Given the description of an element on the screen output the (x, y) to click on. 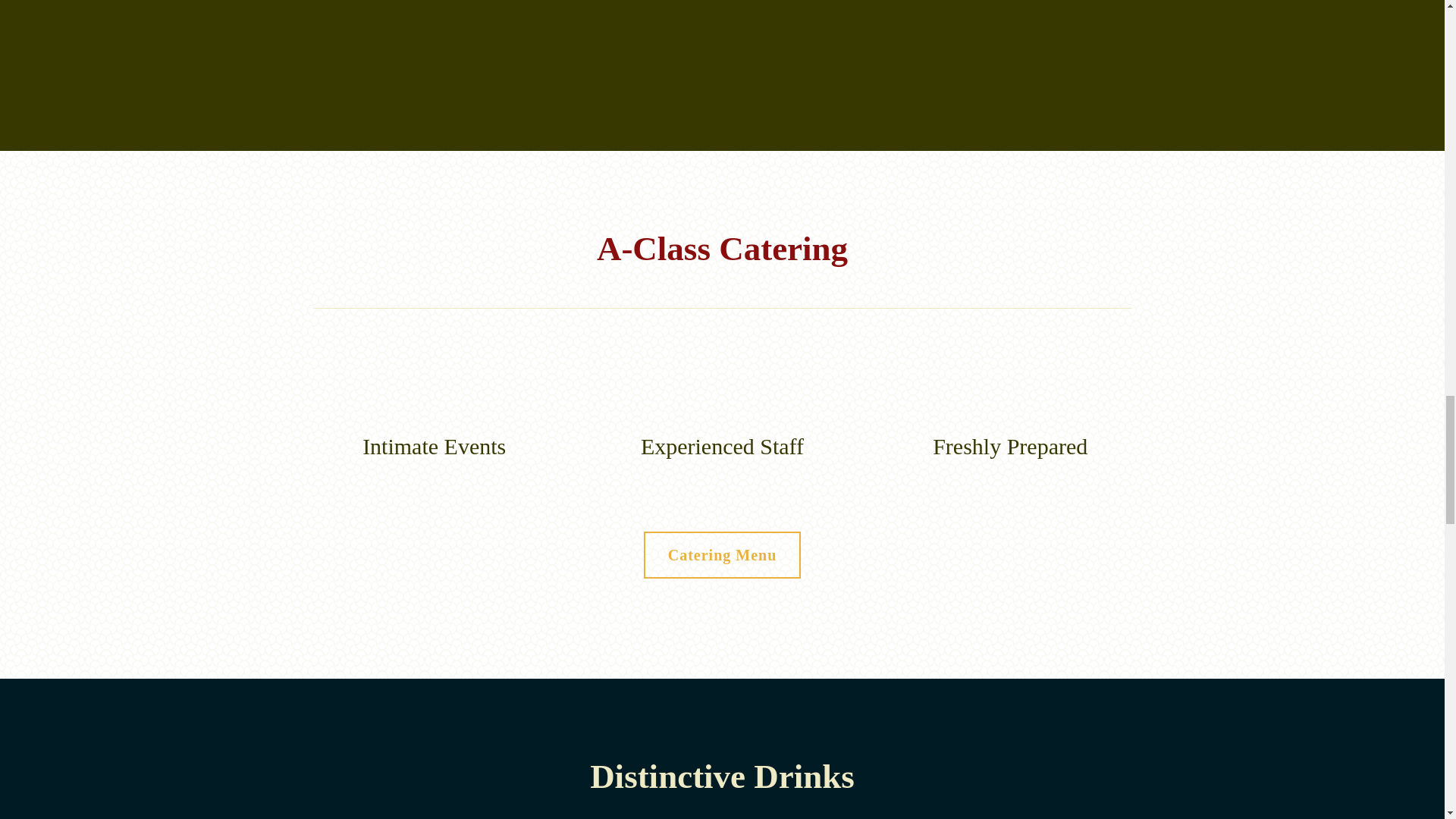
Catering Menu (722, 554)
